Given the description of an element on the screen output the (x, y) to click on. 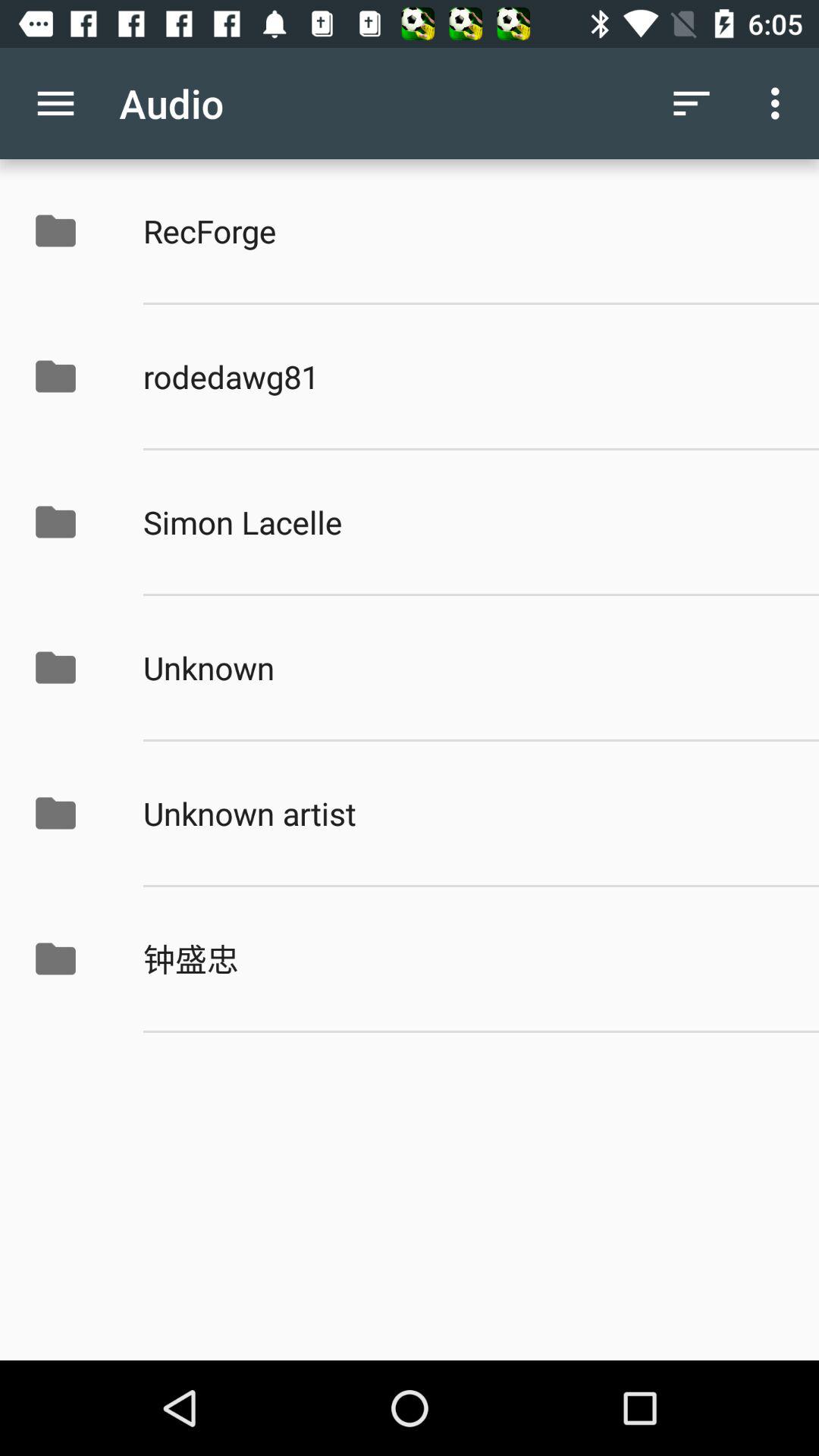
choose app above rodedawg81 item (465, 230)
